Given the description of an element on the screen output the (x, y) to click on. 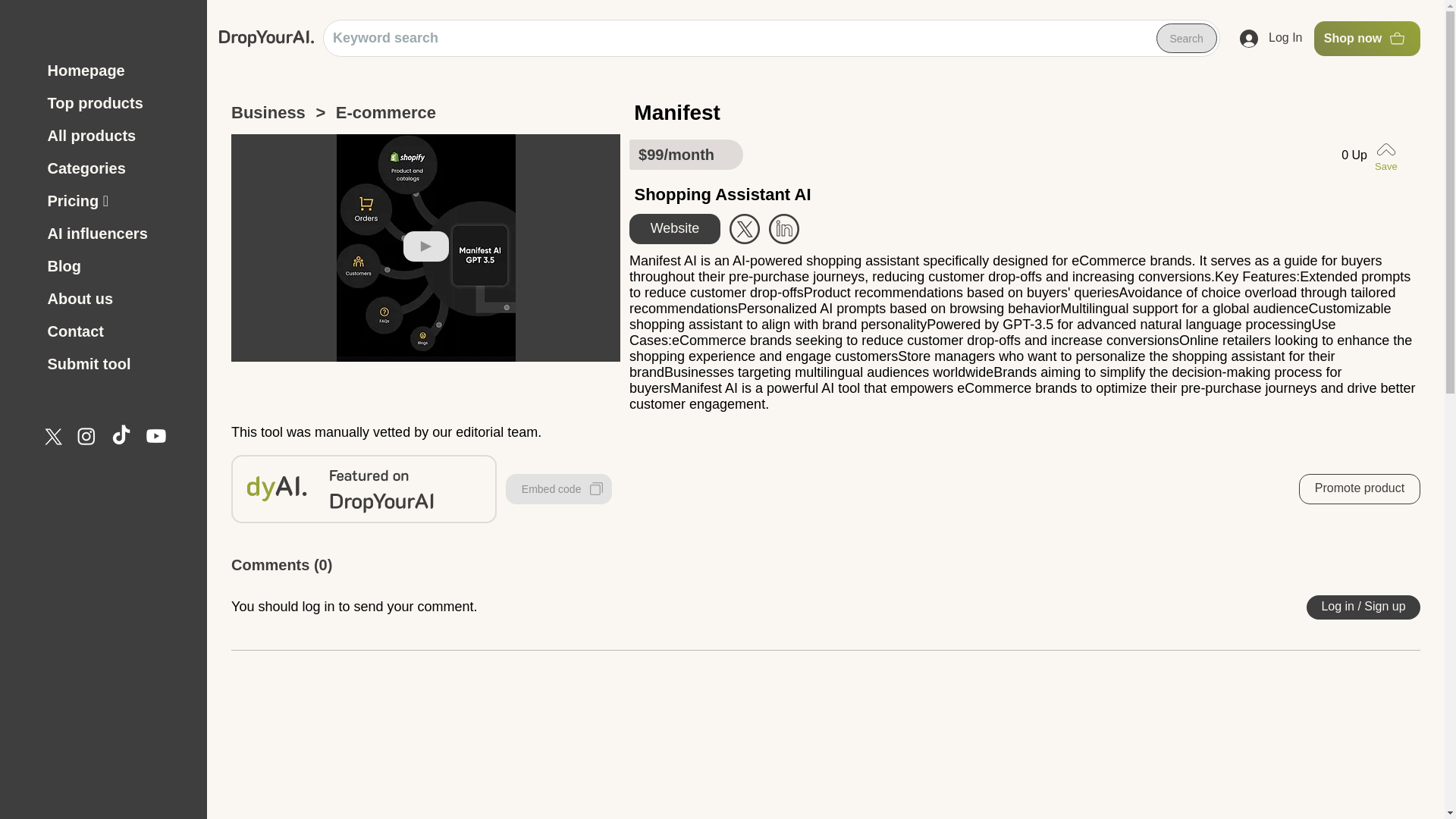
Save (1388, 155)
Log In (1270, 38)
Website (674, 228)
AI influencers (117, 233)
Submit tool (117, 364)
Top products (117, 102)
Homepage (117, 70)
All products (117, 135)
Shop now (1367, 38)
Start Now (783, 228)
